Given the description of an element on the screen output the (x, y) to click on. 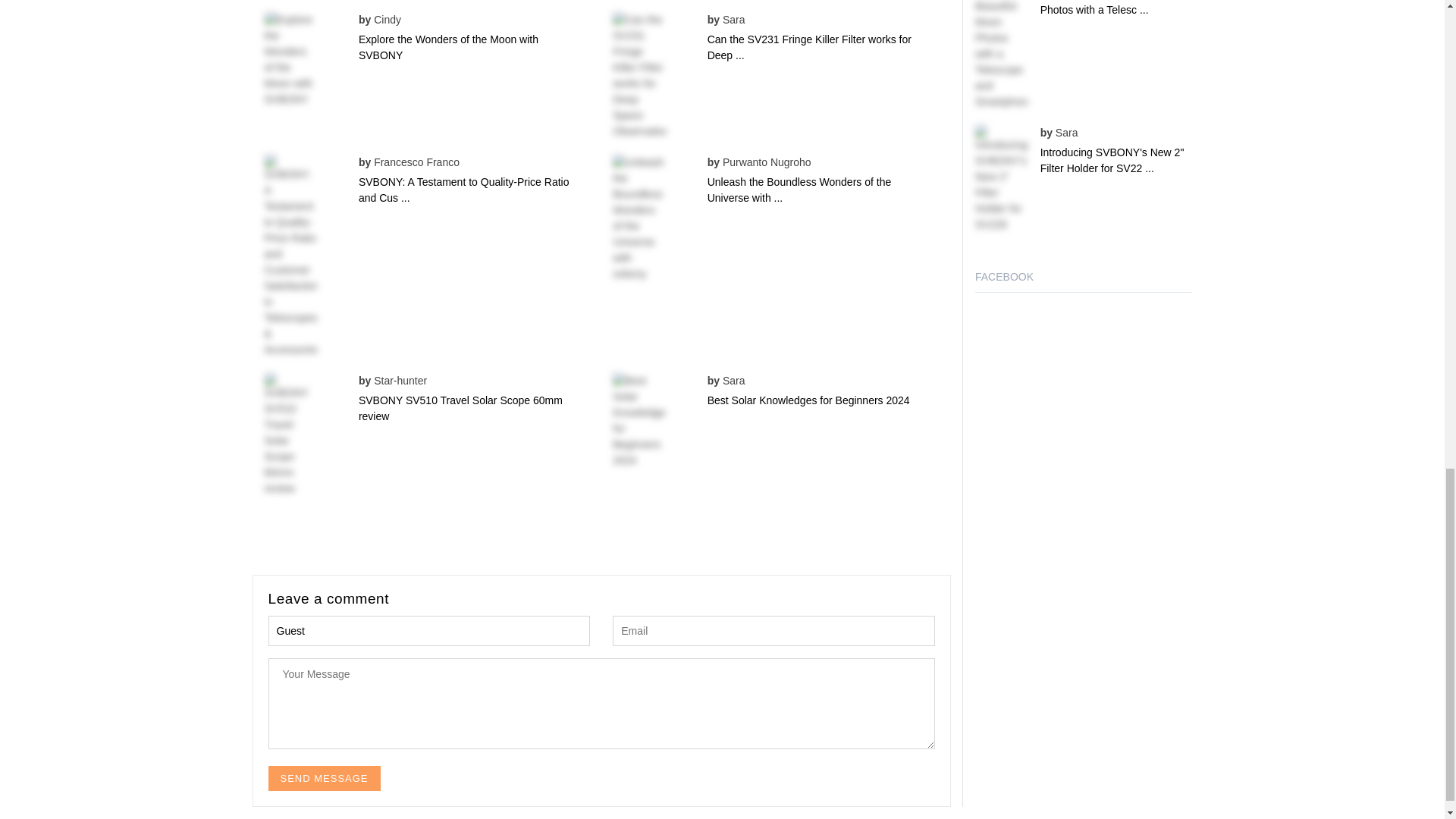
Send Message (323, 778)
Guest (429, 630)
